Given the description of an element on the screen output the (x, y) to click on. 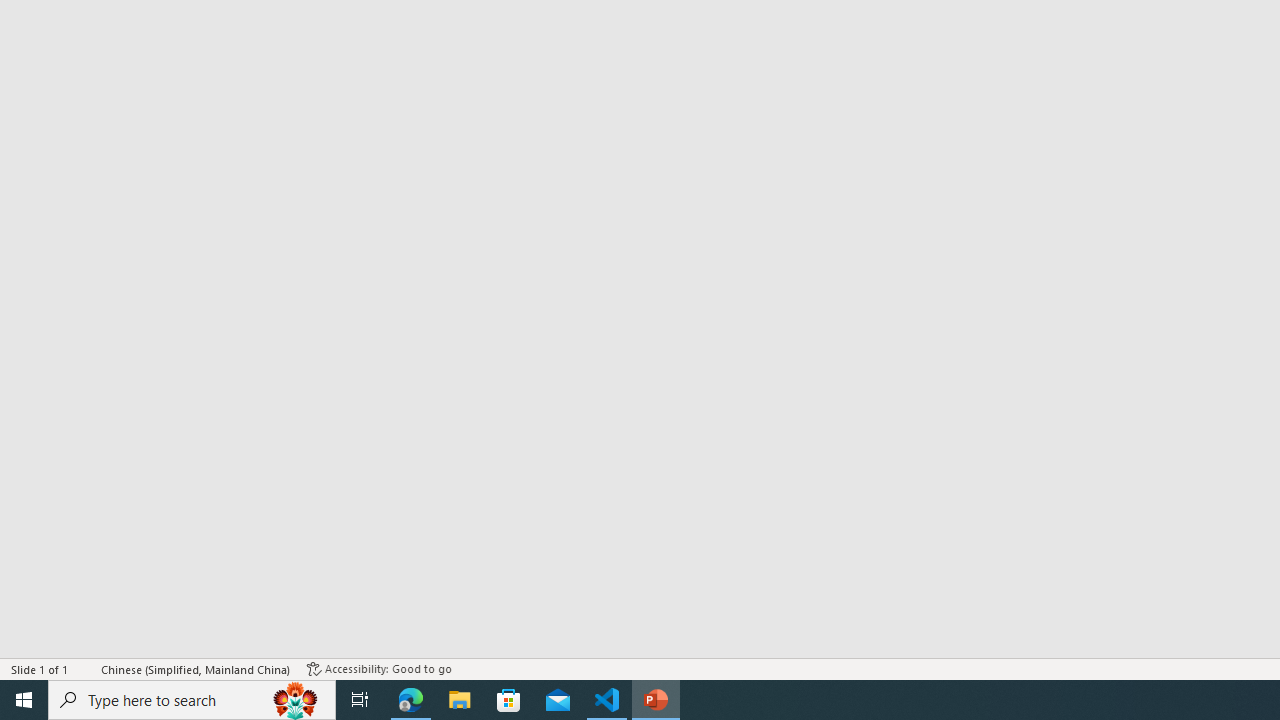
Spell Check  (86, 668)
